Given the description of an element on the screen output the (x, y) to click on. 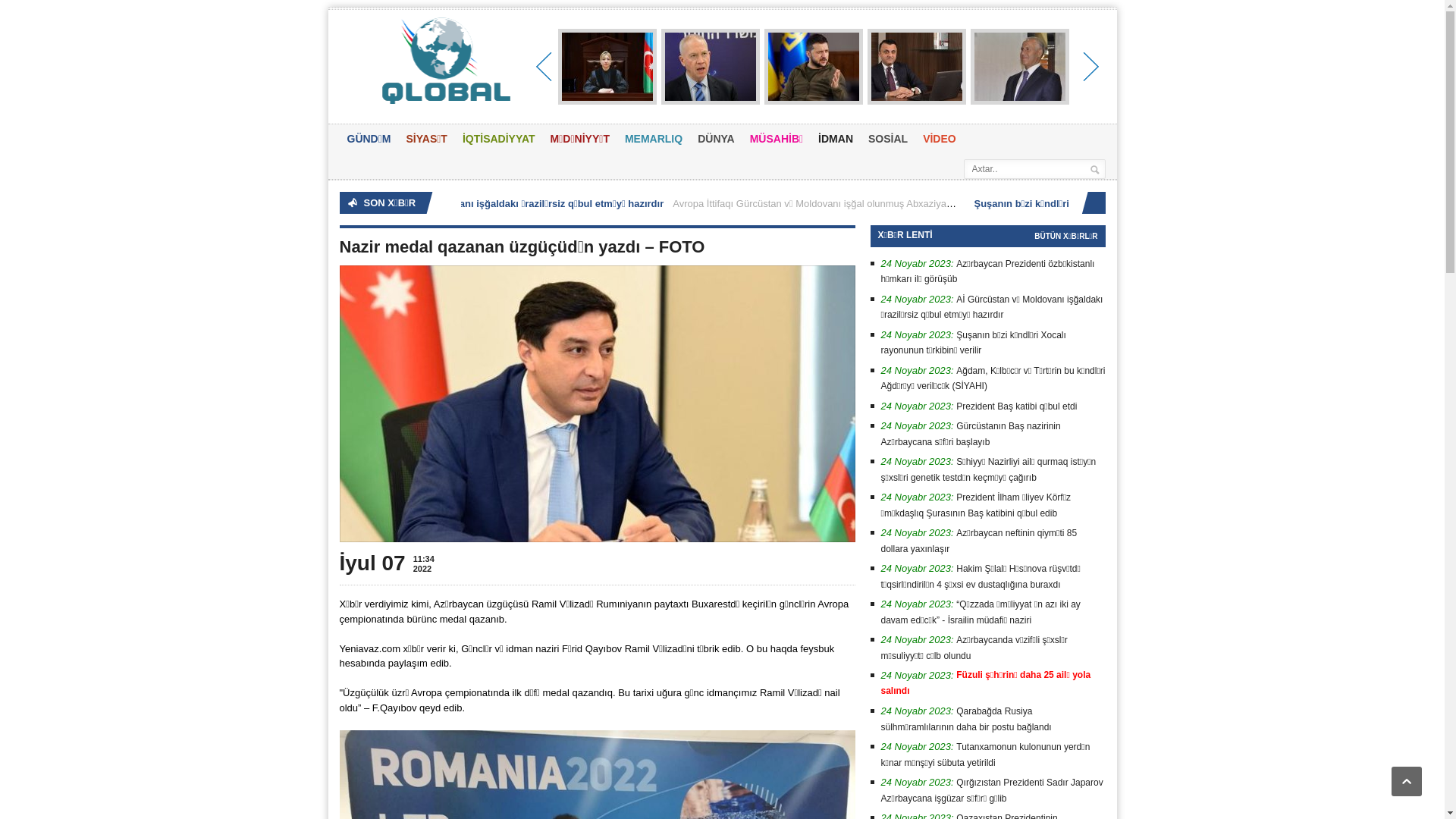
MEMARLIQ Element type: text (653, 139)
